Given the description of an element on the screen output the (x, y) to click on. 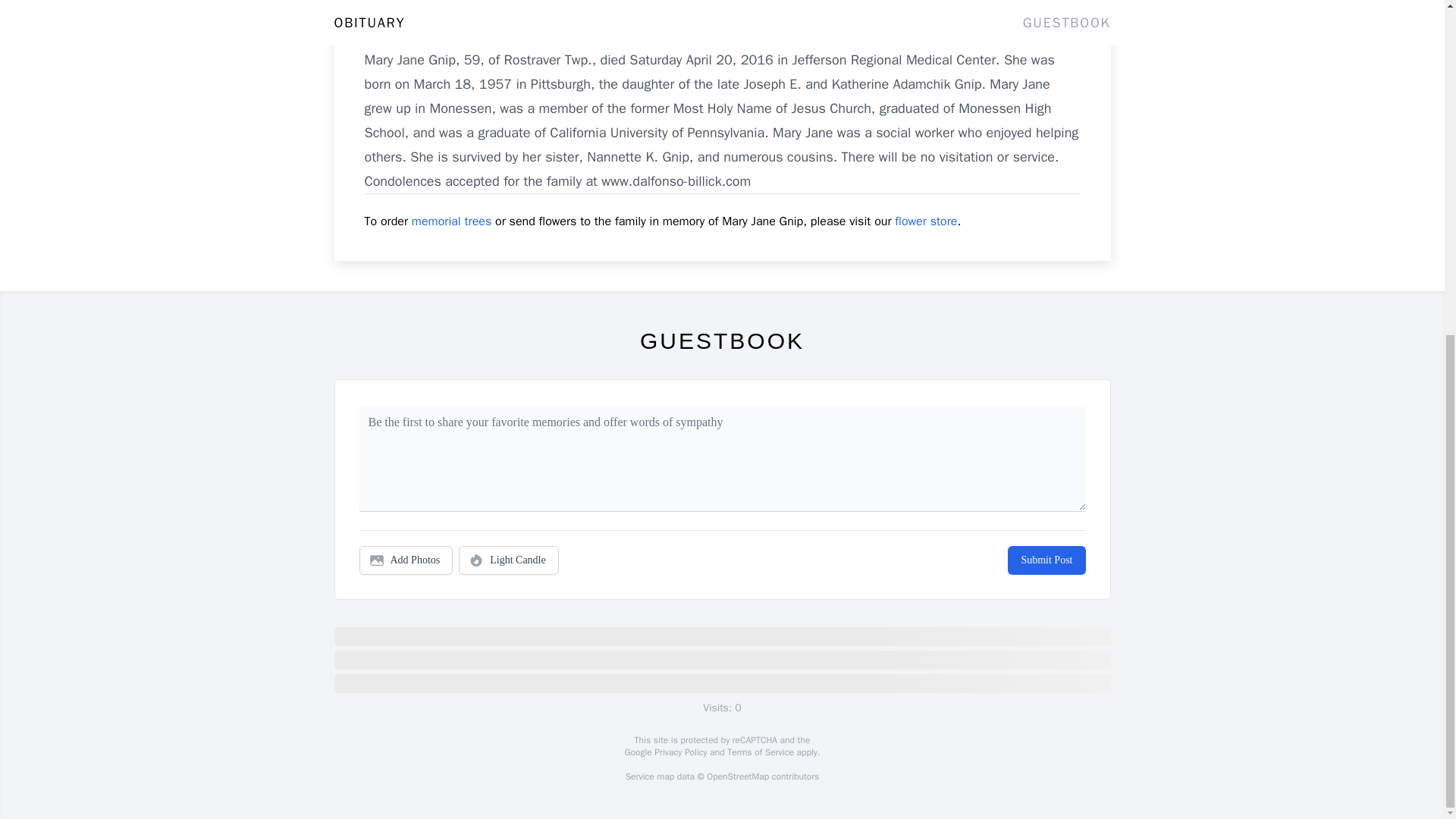
Light Candle (508, 560)
Terms of Service (759, 752)
OpenStreetMap (737, 776)
memorial trees (452, 221)
Submit Post (1045, 560)
Privacy Policy (679, 752)
flower store (925, 221)
Add Photos (405, 560)
